Given the description of an element on the screen output the (x, y) to click on. 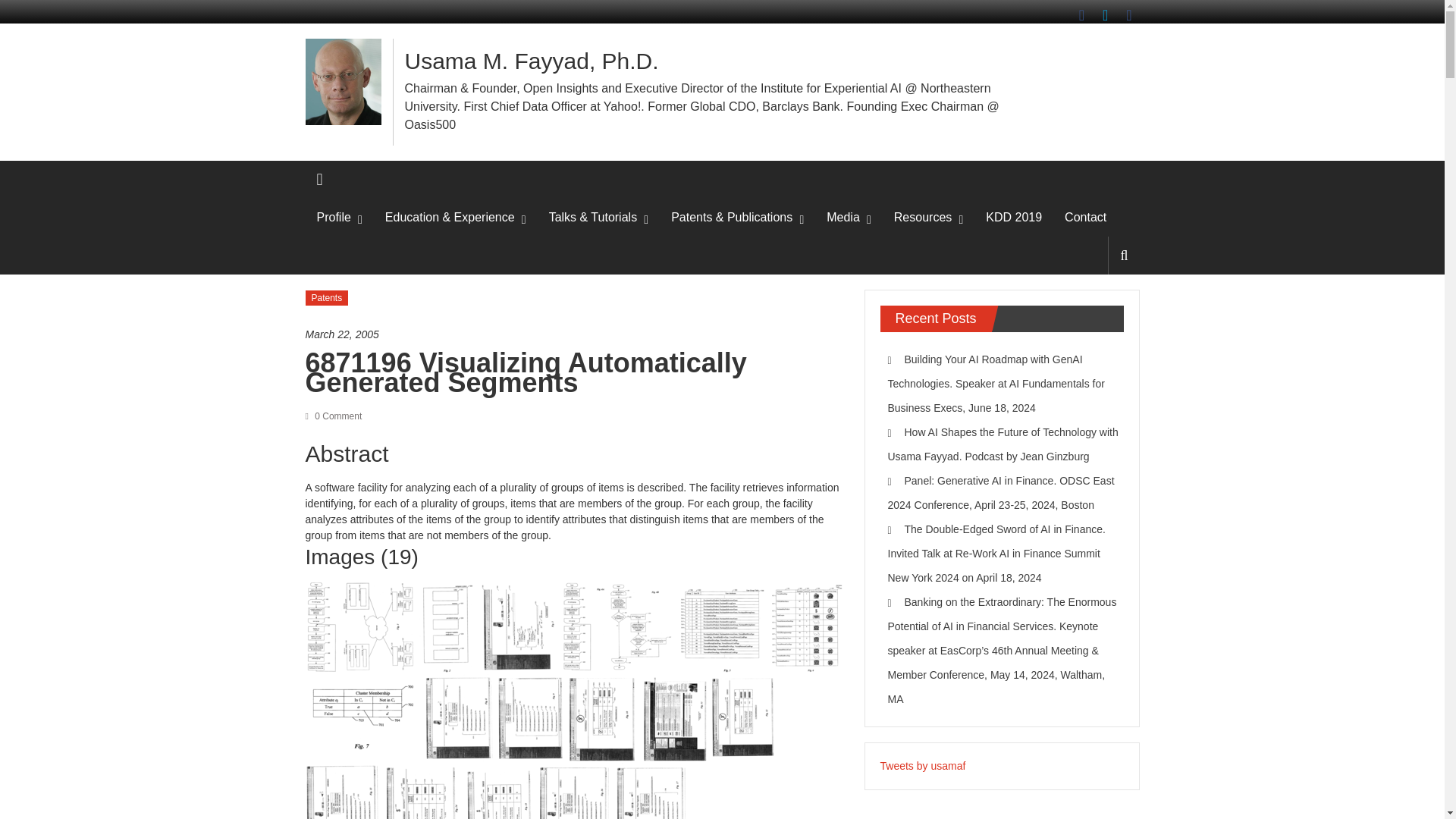
Resources (922, 217)
Usama M. Fayyad, Ph.D. (531, 60)
Usama M. Fayyad, Ph.D. (531, 60)
12:00 am (575, 334)
Profile (333, 217)
